Given the description of an element on the screen output the (x, y) to click on. 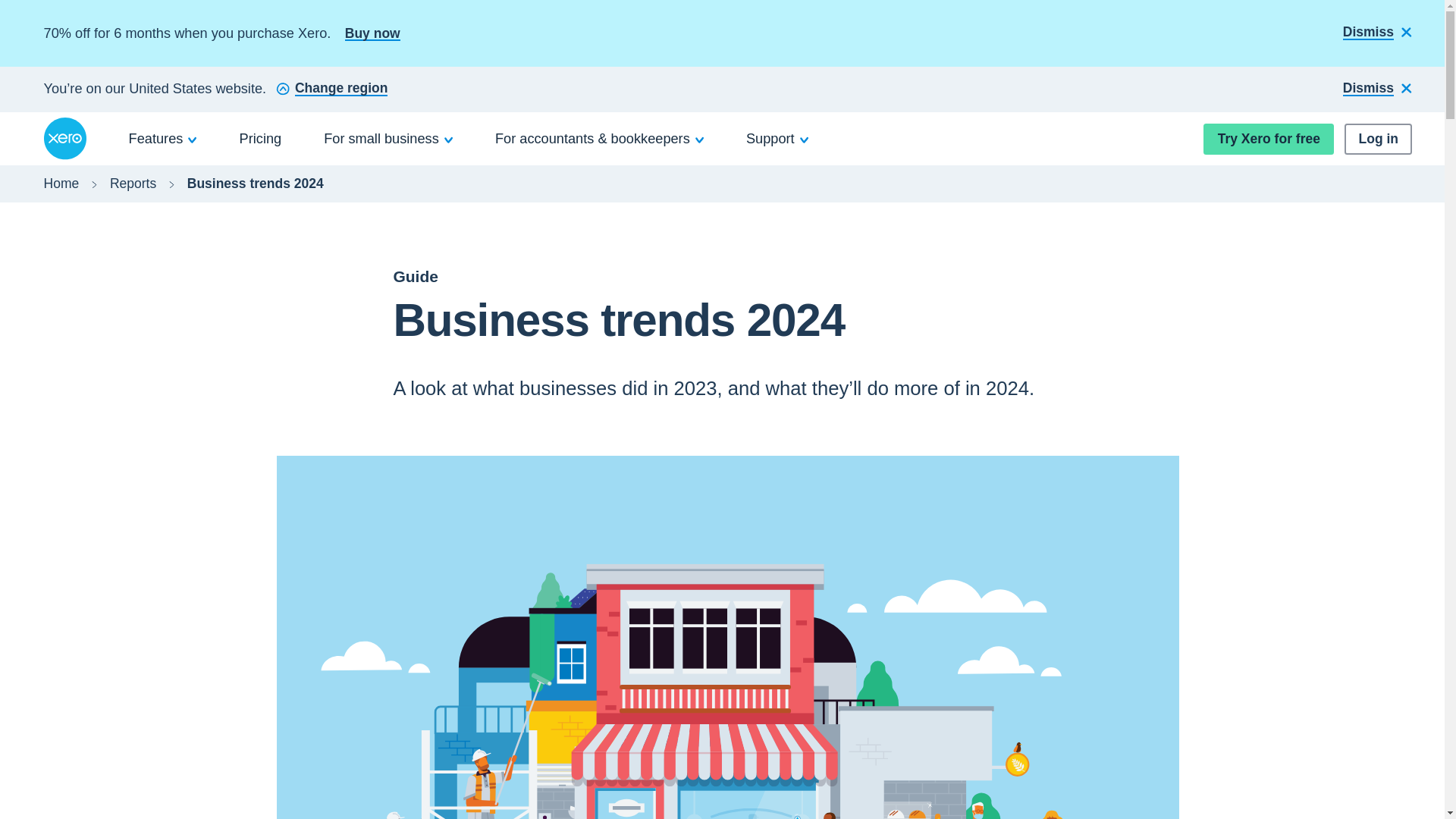
Dismiss (1377, 33)
Features (162, 138)
Pricing (260, 138)
Business trends 2024 (255, 183)
Dismiss (1377, 89)
Reports (132, 183)
For small business (388, 138)
Log in (1377, 138)
Buy now (372, 32)
Home (61, 183)
Try Xero for free (1268, 138)
Change region (331, 89)
Support (777, 138)
